Given the description of an element on the screen output the (x, y) to click on. 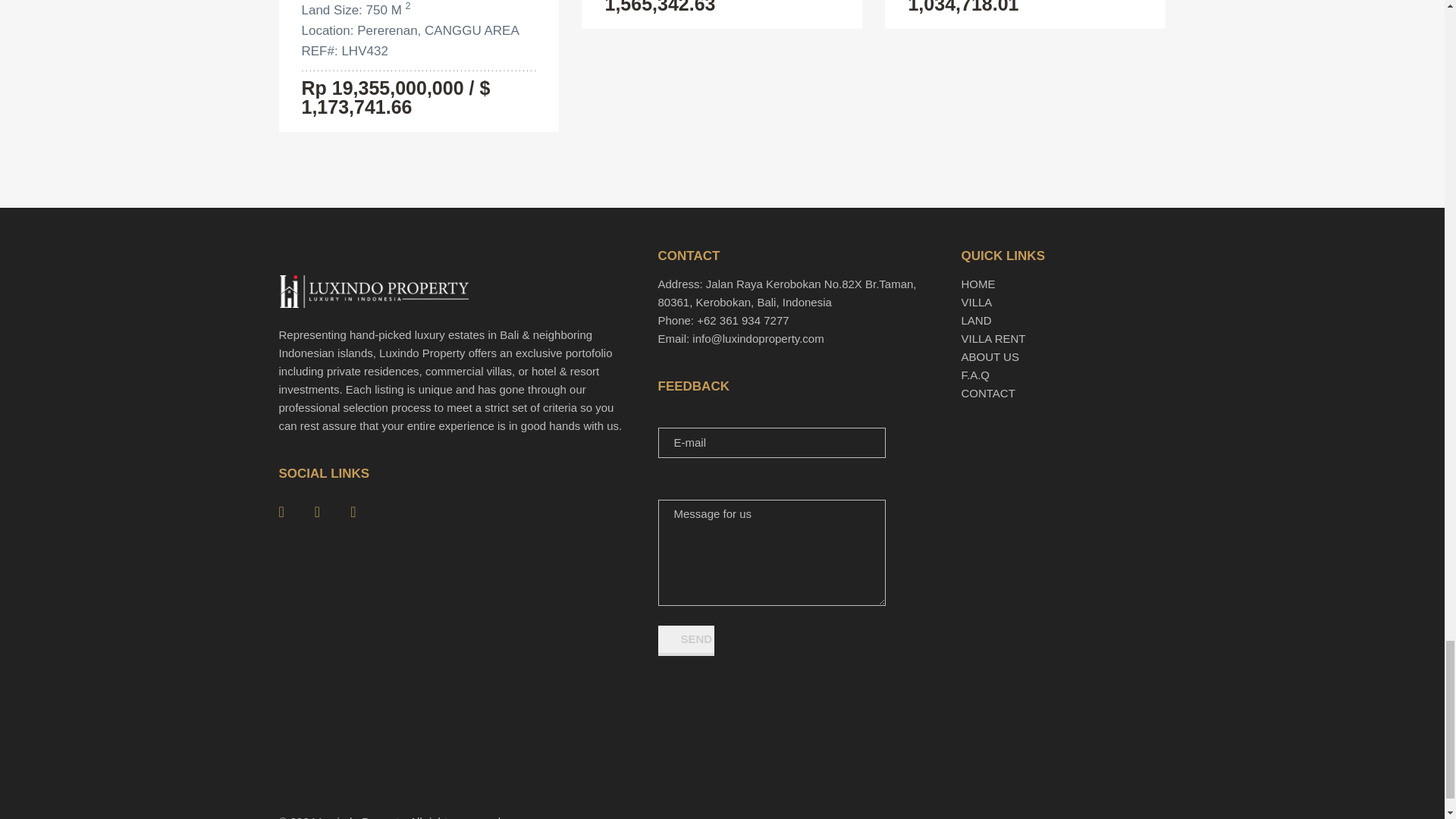
Send (686, 640)
